Given the description of an element on the screen output the (x, y) to click on. 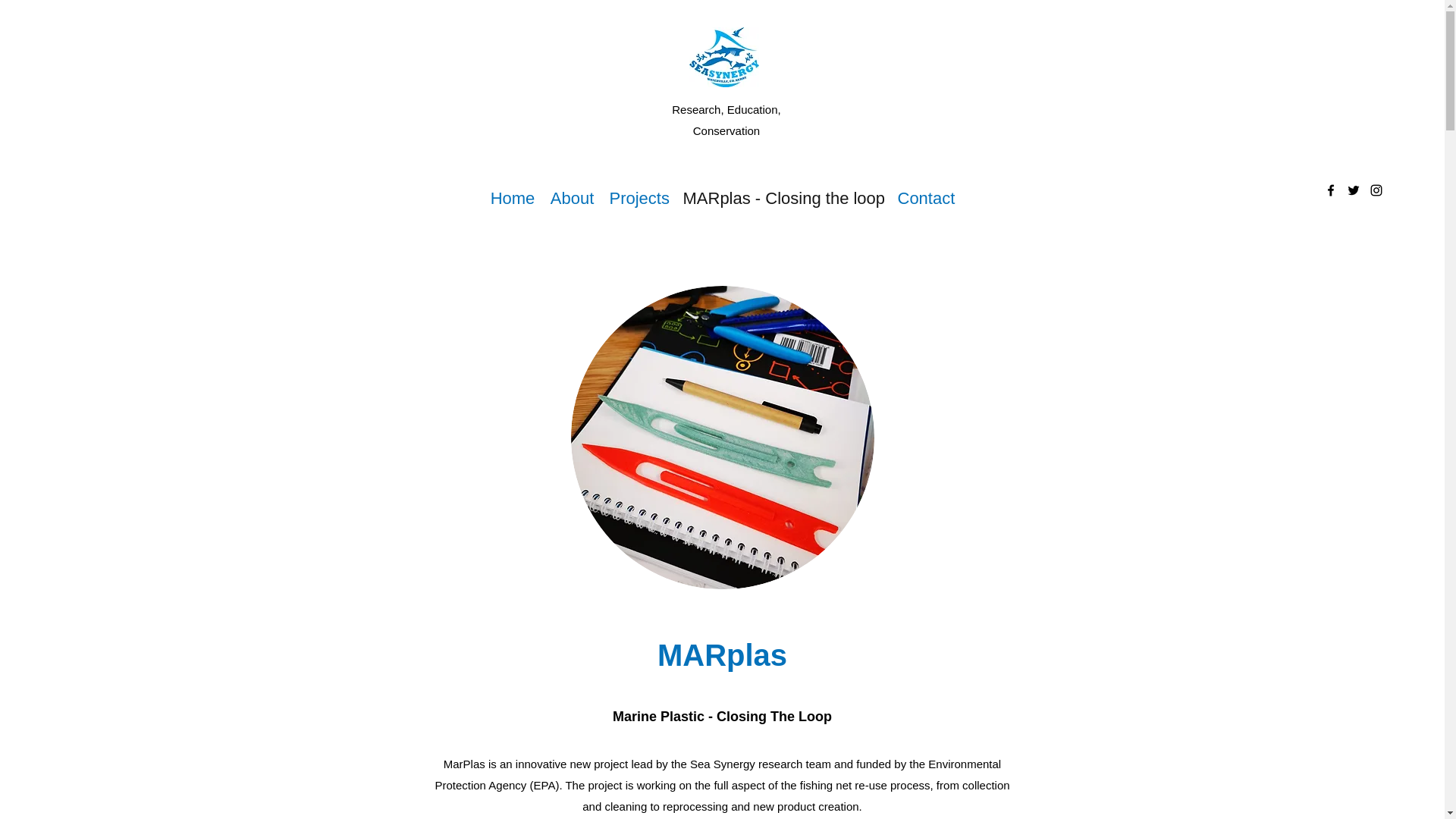
Home (511, 198)
About (572, 198)
Anita  (177, 10)
MARplas - Closing the loop (782, 198)
Contact (925, 198)
Projects (638, 198)
